Given the description of an element on the screen output the (x, y) to click on. 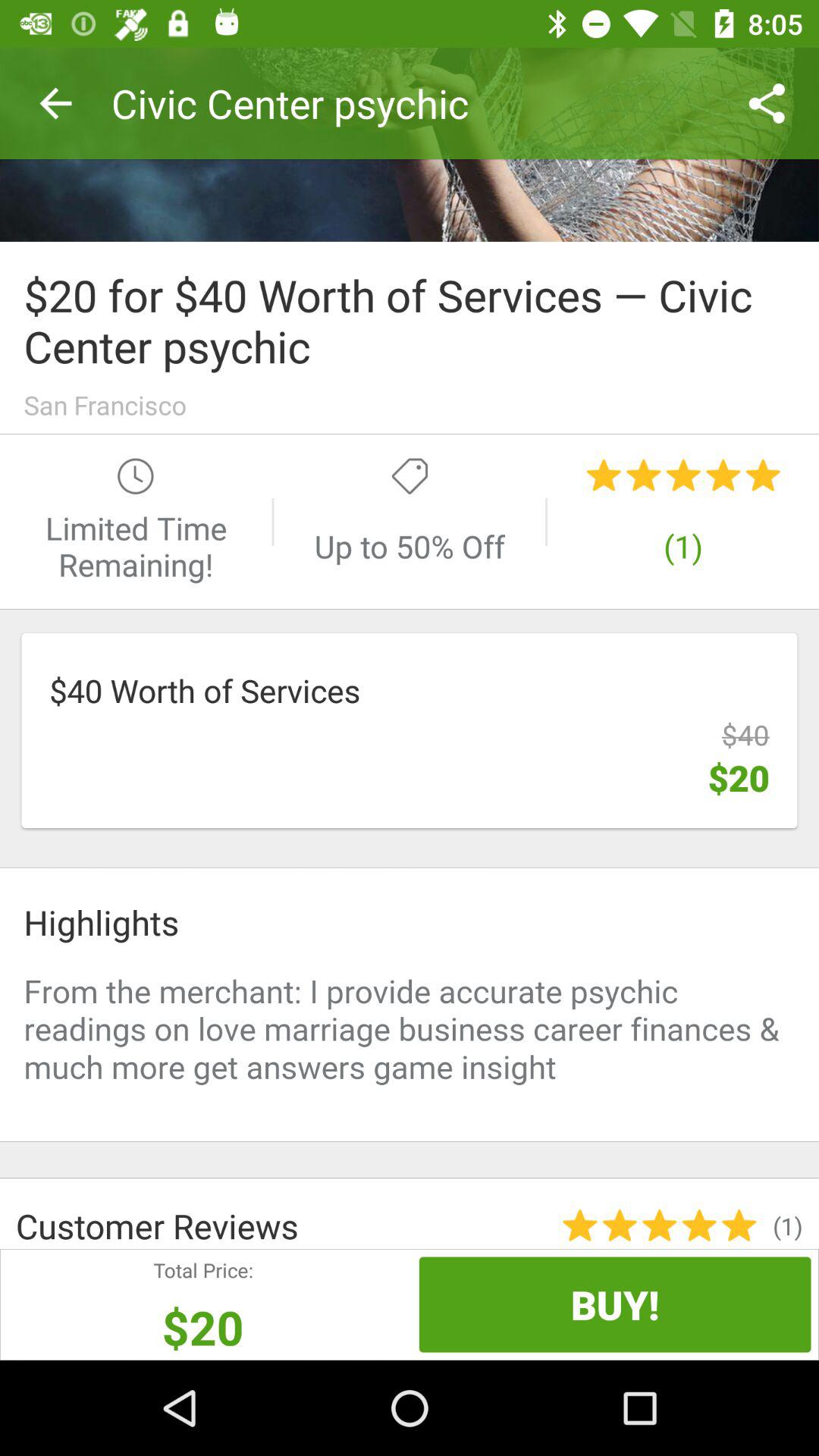
share page and go back (409, 144)
